Given the description of an element on the screen output the (x, y) to click on. 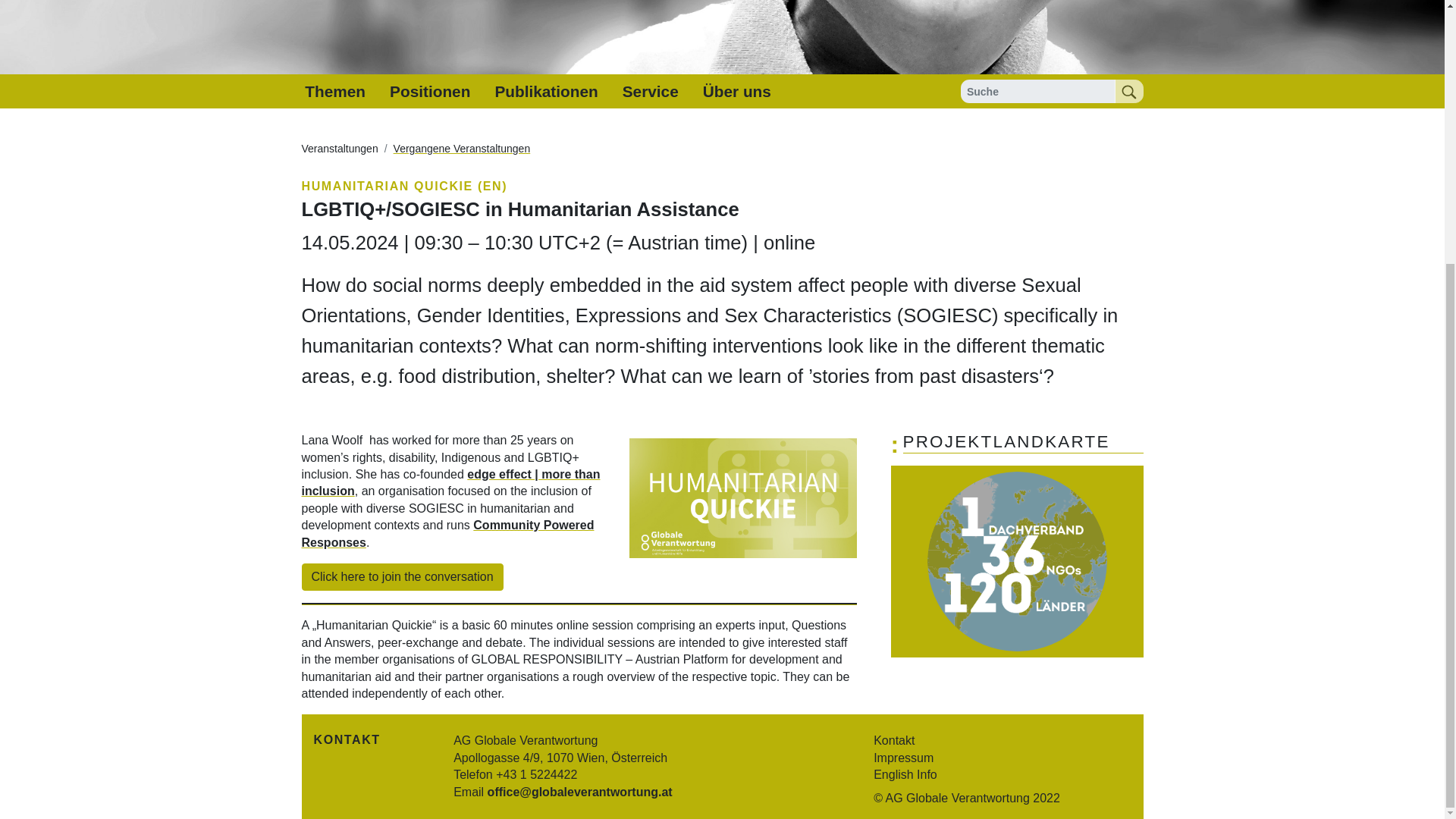
Service (650, 91)
Themen (334, 91)
Publikationen (545, 91)
Positionen (429, 91)
Themen (334, 91)
